Given the description of an element on the screen output the (x, y) to click on. 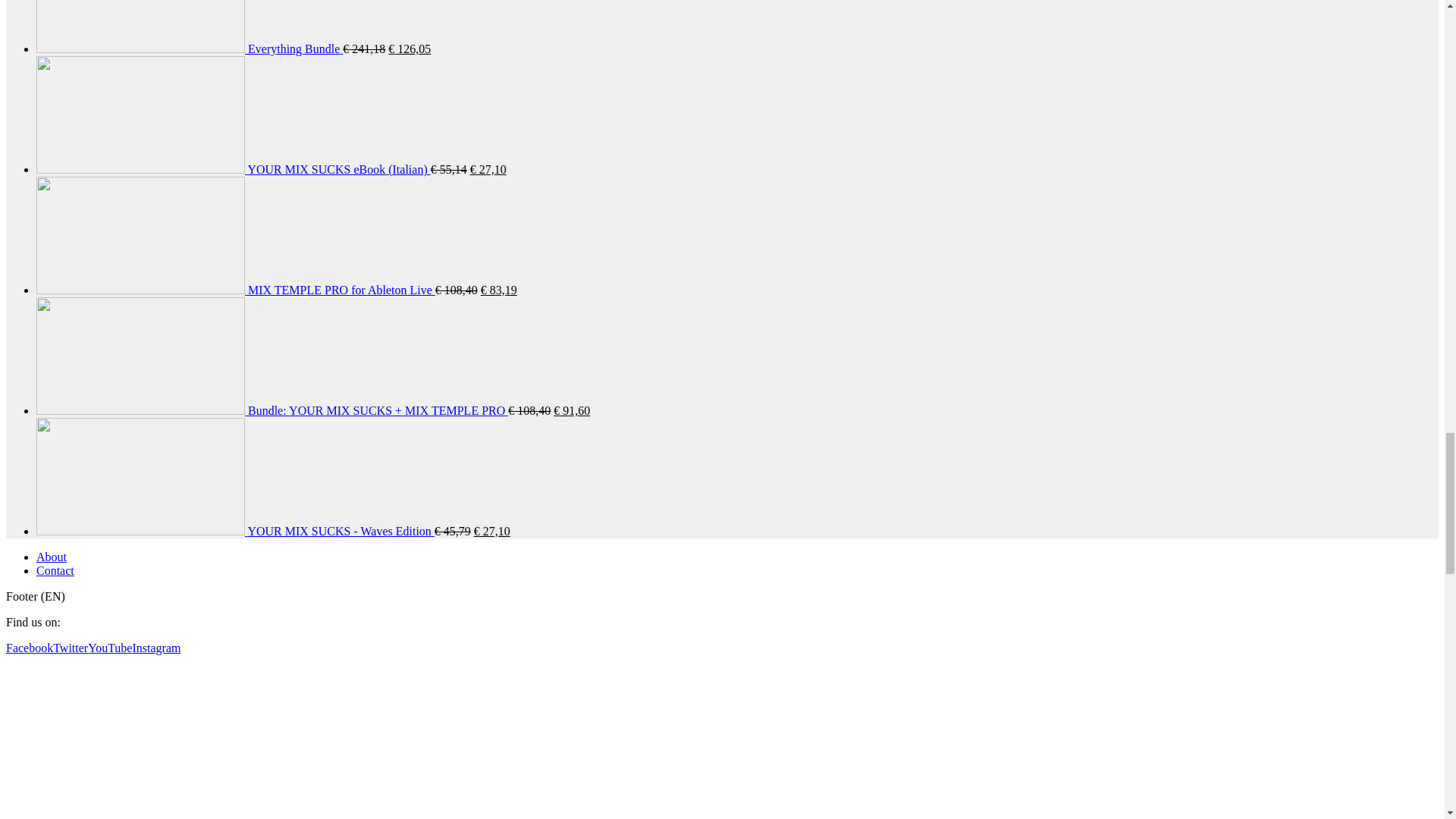
Twitter (69, 647)
Facebook (28, 647)
Instagram (156, 647)
YouTube (109, 647)
